Given the description of an element on the screen output the (x, y) to click on. 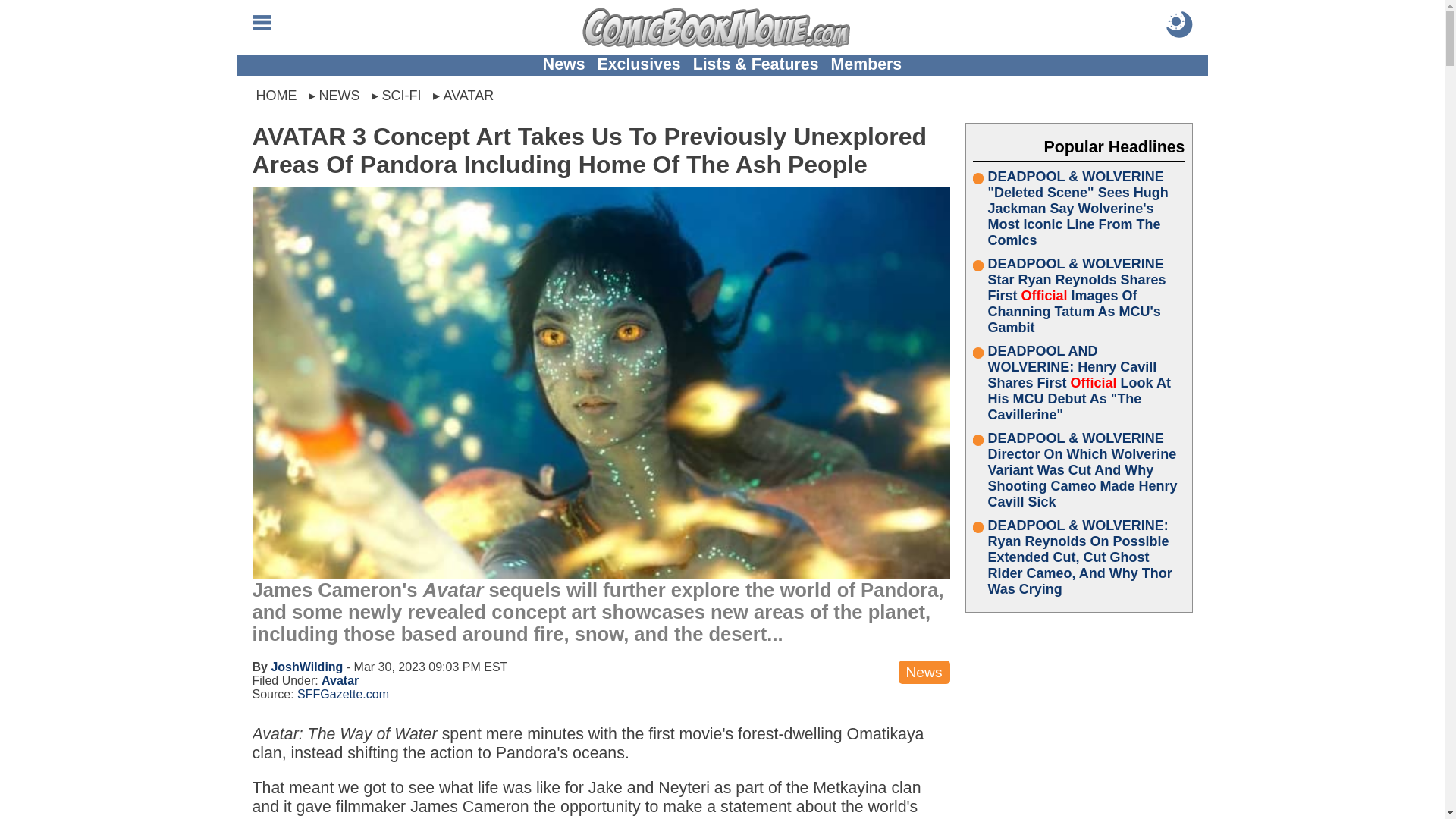
Exclusives (637, 64)
Members (866, 64)
News (564, 64)
